Given the description of an element on the screen output the (x, y) to click on. 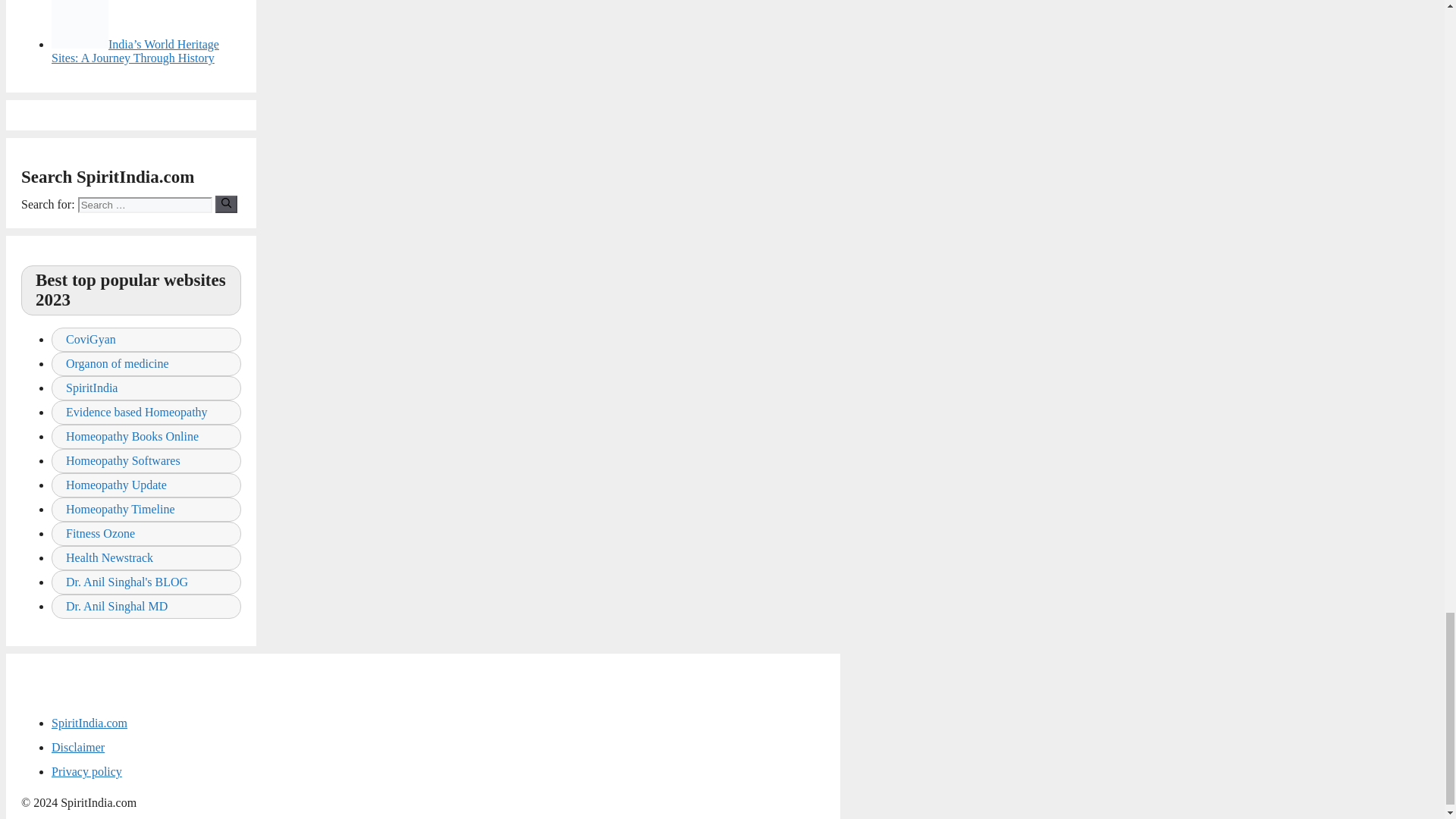
Search for: (145, 204)
